Given the description of an element on the screen output the (x, y) to click on. 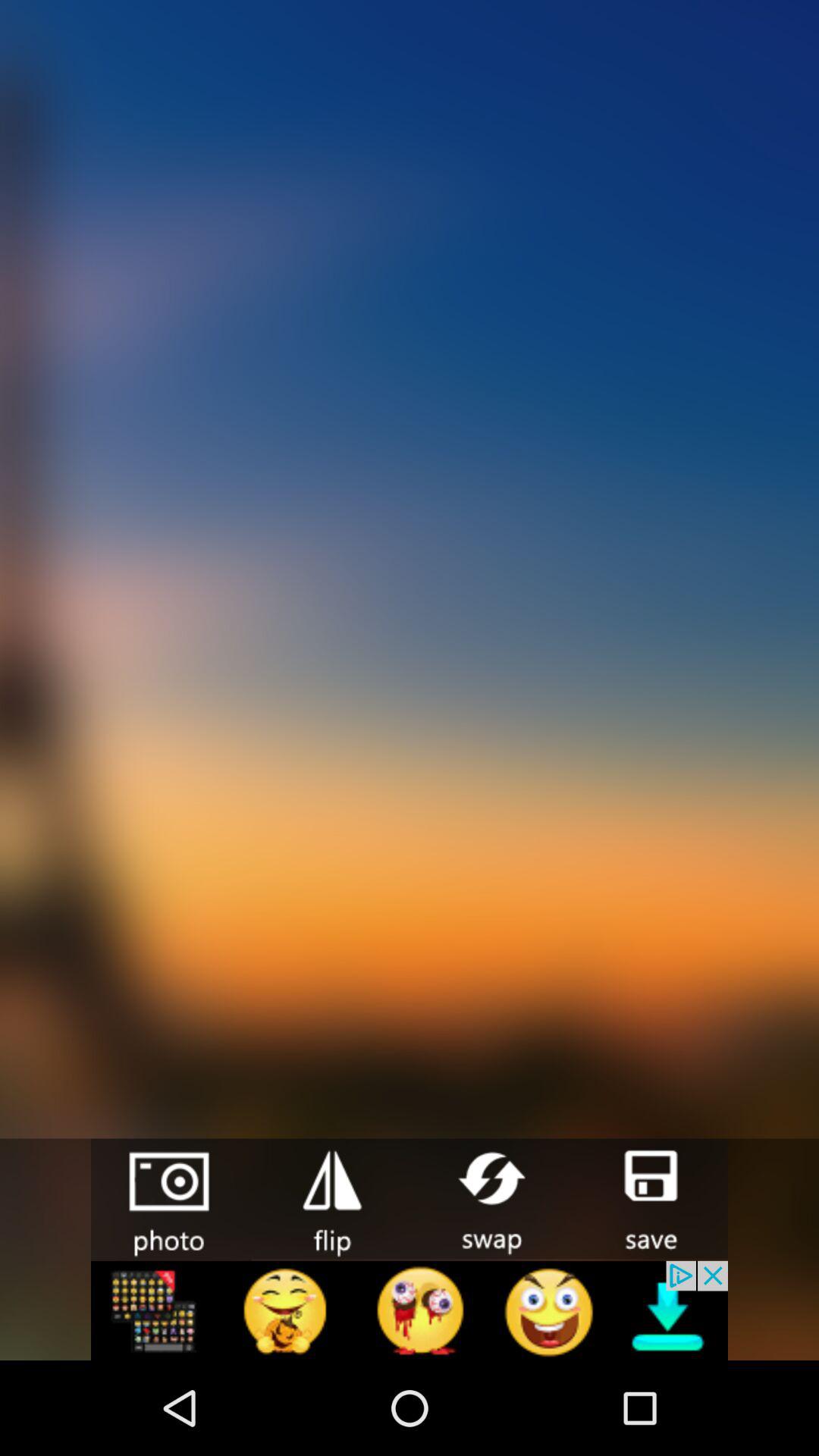
flip the image 180 degrees (330, 1198)
